Given the description of an element on the screen output the (x, y) to click on. 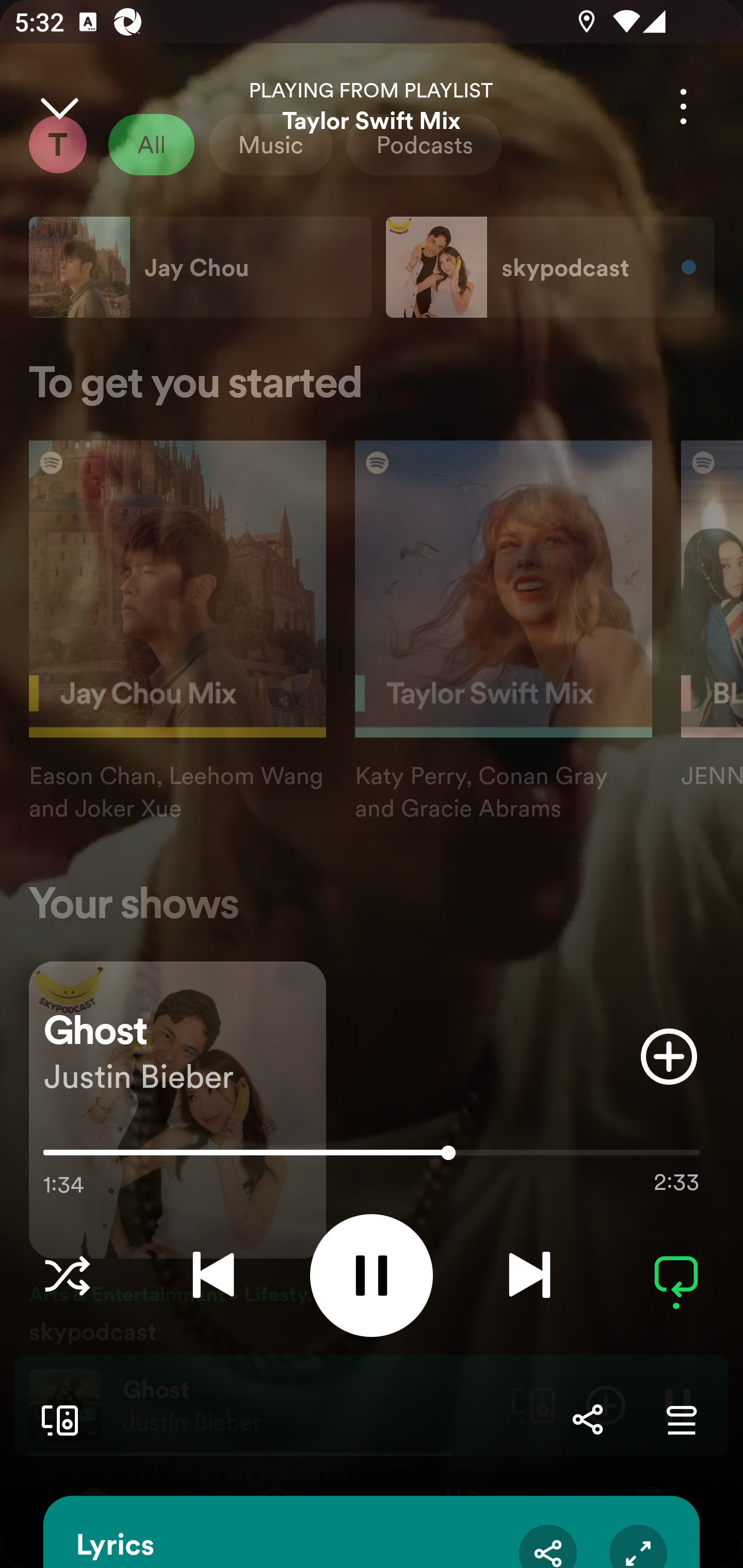
Close (59, 106)
More options for song Ghost (683, 106)
PLAYING FROM PLAYLIST Taylor Swift Mix (371, 106)
Add item (669, 1056)
1:34 2:33 94355.0 Use volume keys to adjust (371, 1157)
Pause (371, 1275)
Previous (212, 1275)
Next (529, 1275)
Choose a Listening Mode (66, 1275)
Repeat (676, 1275)
Share (587, 1419)
Go to Queue (681, 1419)
Connect to a device. Opens the devices menu (55, 1419)
Lyrics Share Expand (371, 1531)
Share (547, 1546)
Expand (638, 1546)
